Given the description of an element on the screen output the (x, y) to click on. 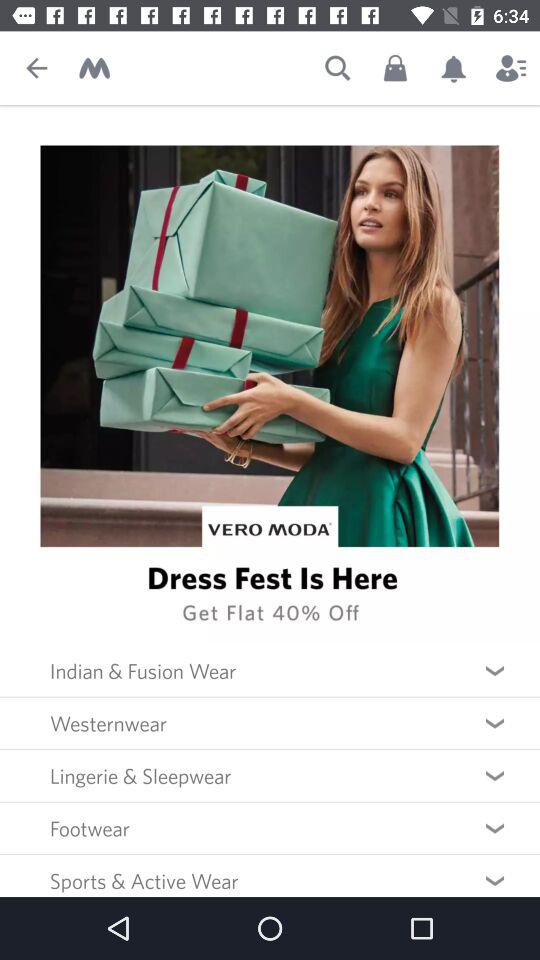
see my profile (511, 68)
